Given the description of an element on the screen output the (x, y) to click on. 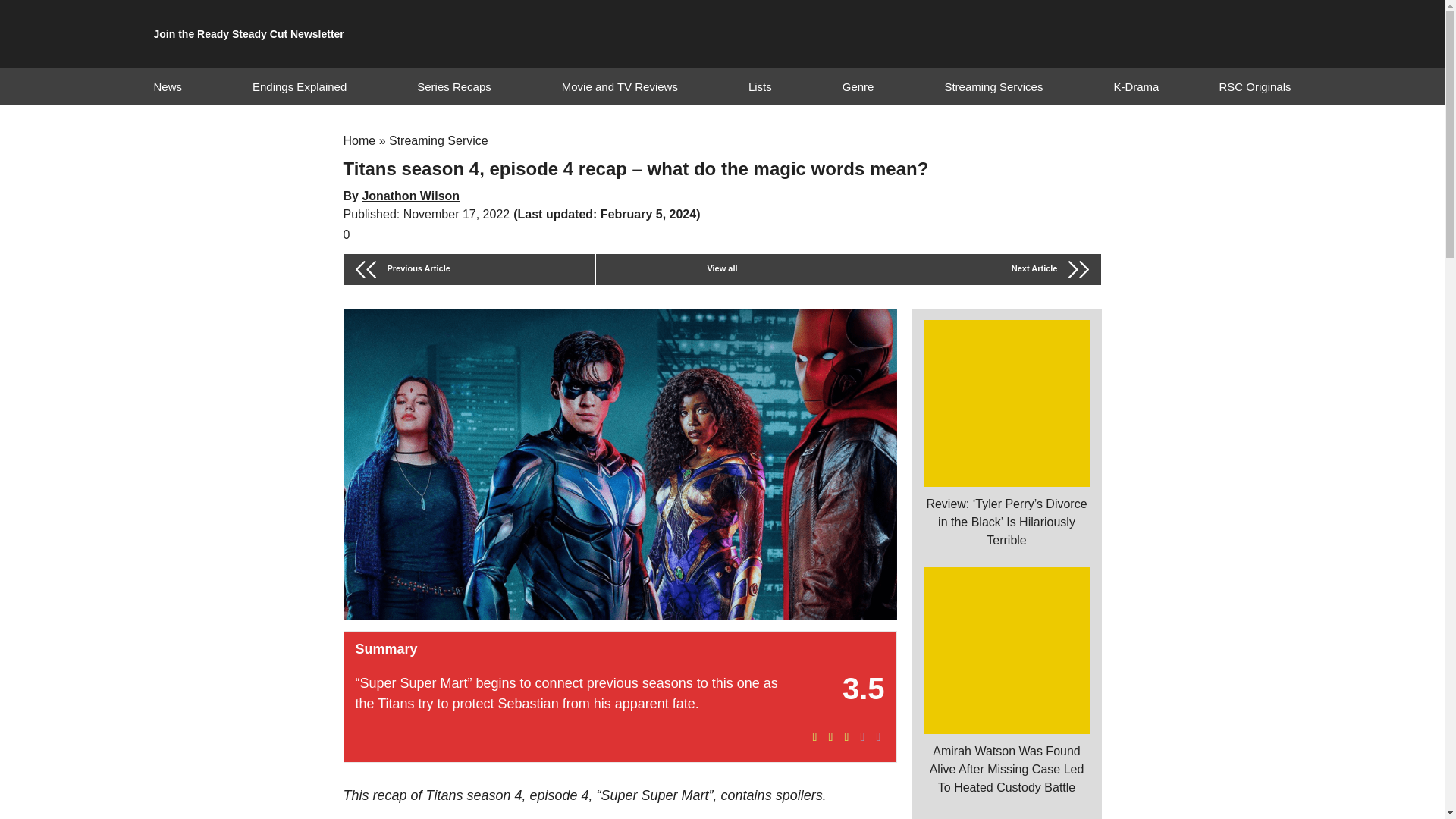
Series Recaps (454, 86)
Endings Explained (298, 86)
Streaming Services (992, 86)
Join the Ready Steady Cut Newsletter (247, 33)
RSC Originals (1254, 86)
Movie and TV Reviews (620, 86)
K-Drama (1135, 86)
